Given the description of an element on the screen output the (x, y) to click on. 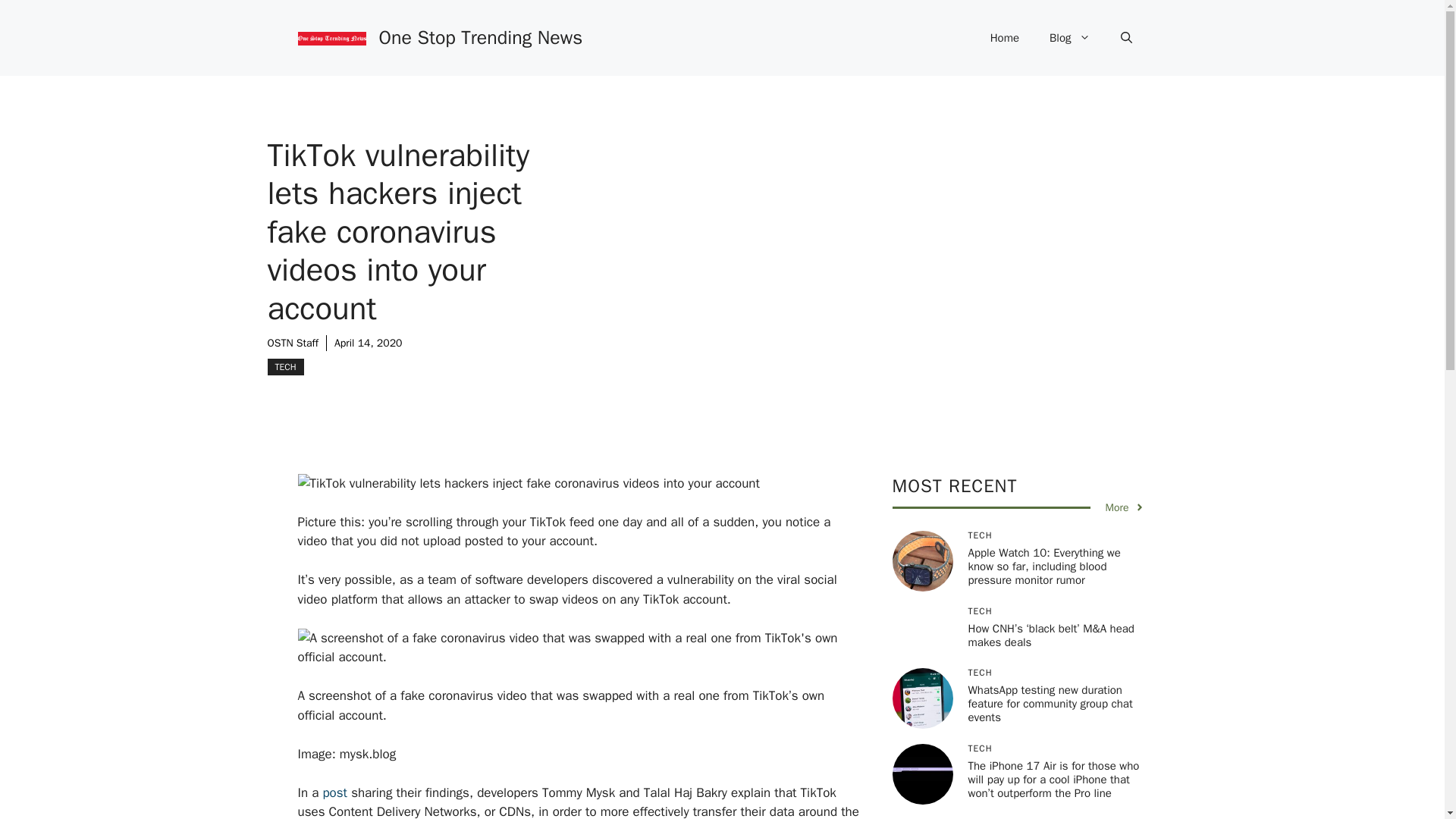
post (334, 792)
TECH (284, 366)
One Stop Trending News (480, 37)
OSTN Staff (291, 342)
Blog (1069, 37)
Home (1004, 37)
More (1124, 507)
